Given the description of an element on the screen output the (x, y) to click on. 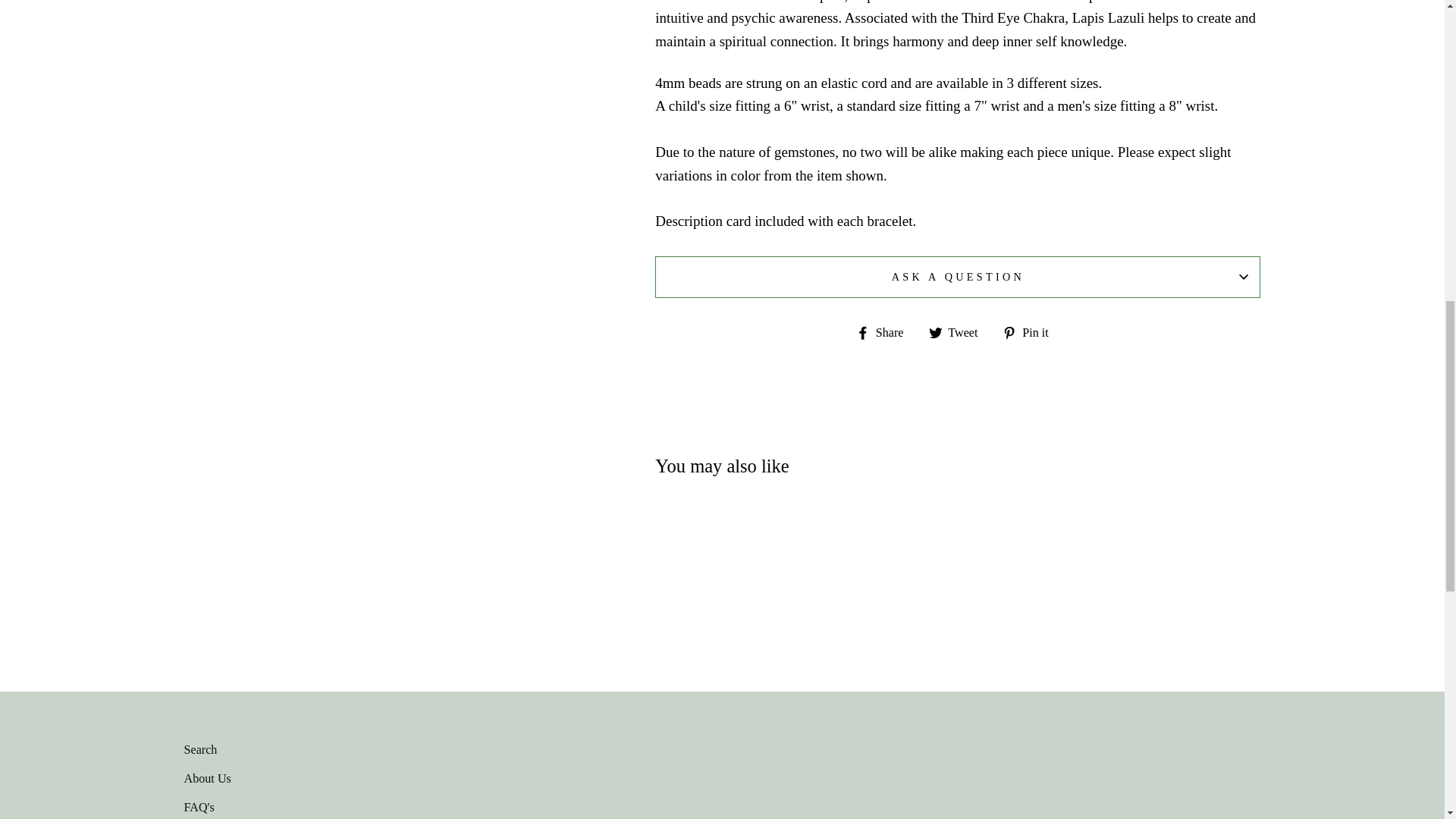
Share on Facebook (885, 332)
Tweet on Twitter (959, 332)
Pin on Pinterest (1031, 332)
